Given the description of an element on the screen output the (x, y) to click on. 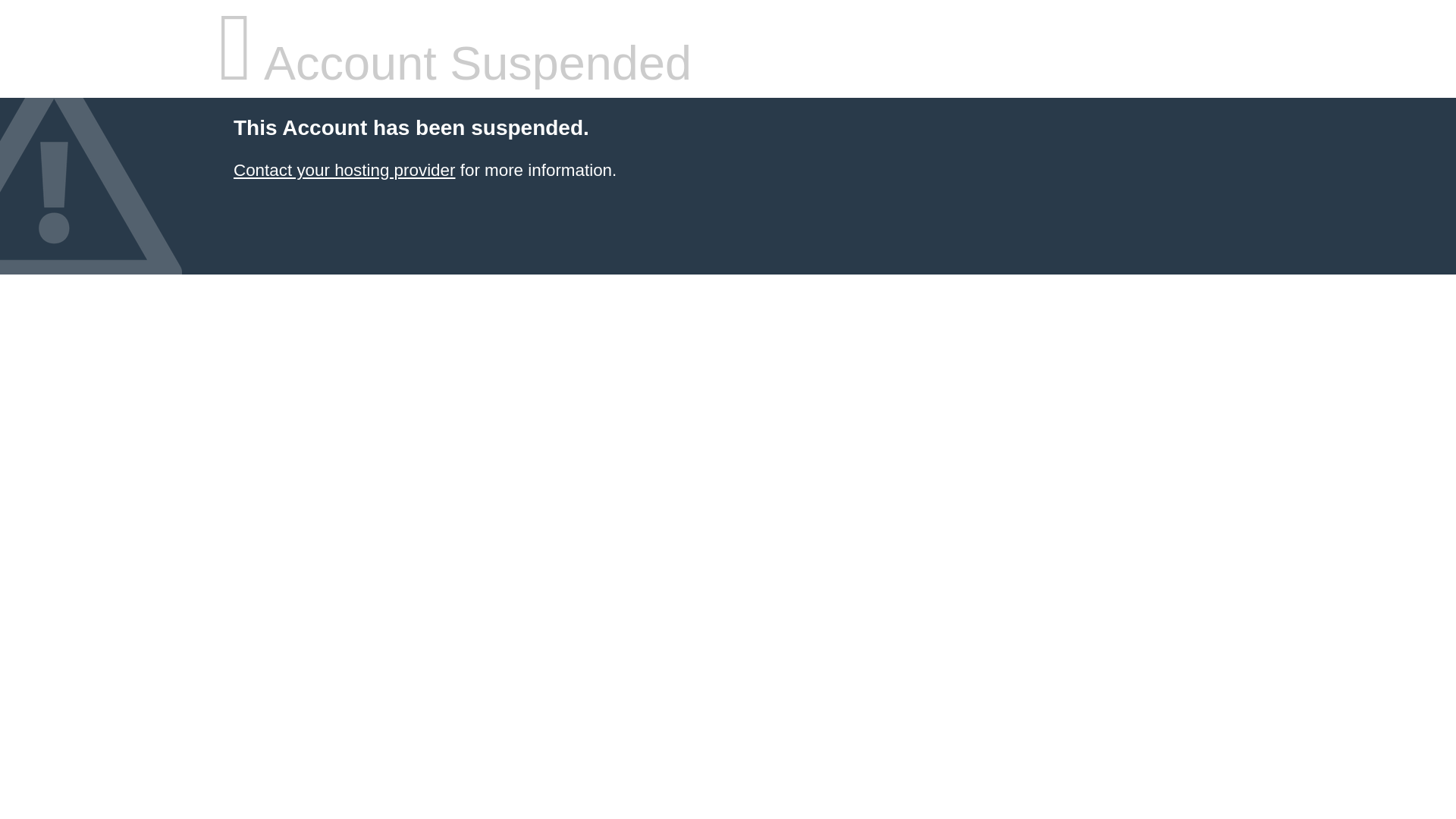
Contact your hosting provider (343, 169)
